Given the description of an element on the screen output the (x, y) to click on. 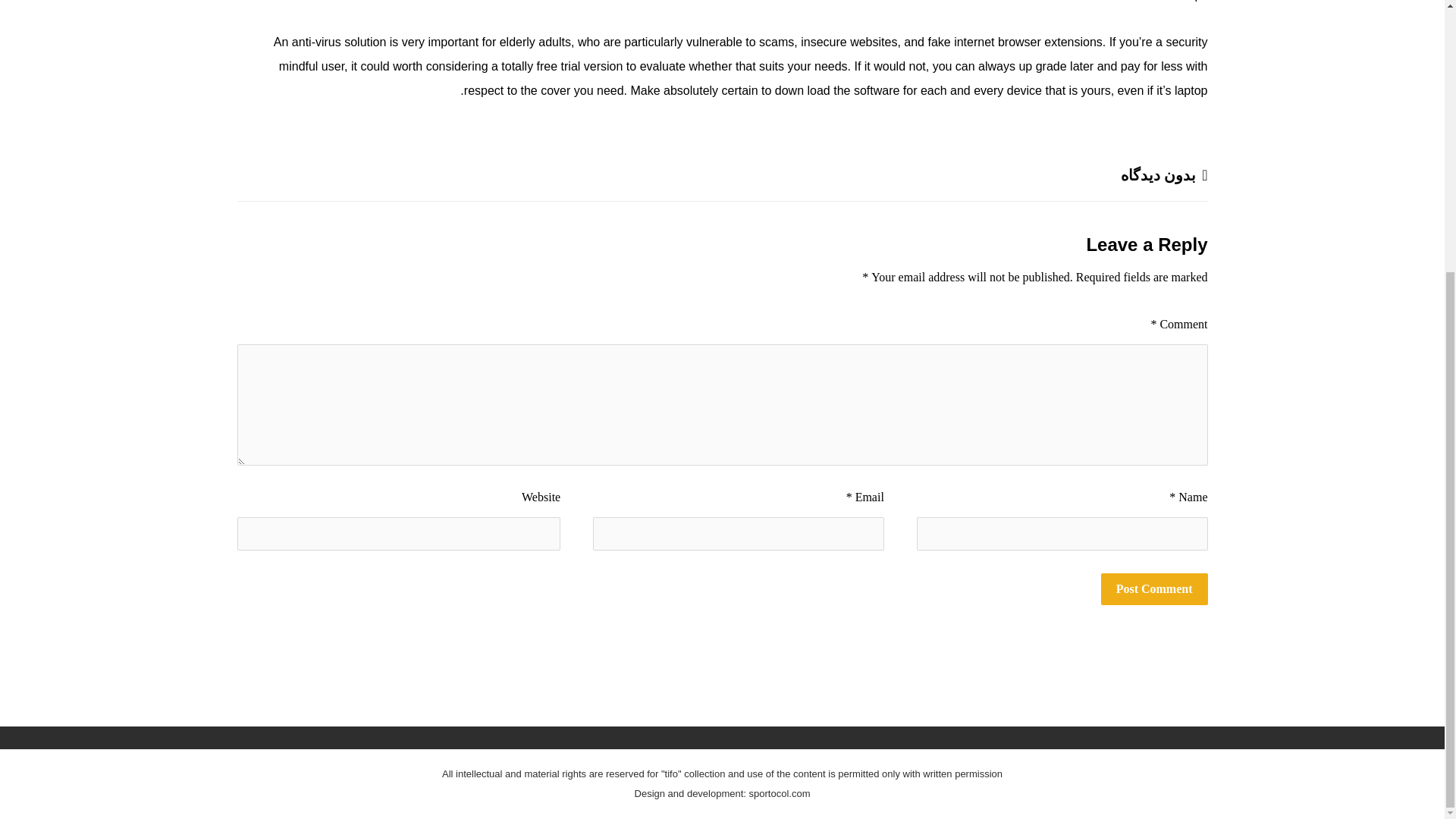
Post Comment (1154, 589)
sportocol.com (779, 793)
Post Comment (1154, 589)
